Given the description of an element on the screen output the (x, y) to click on. 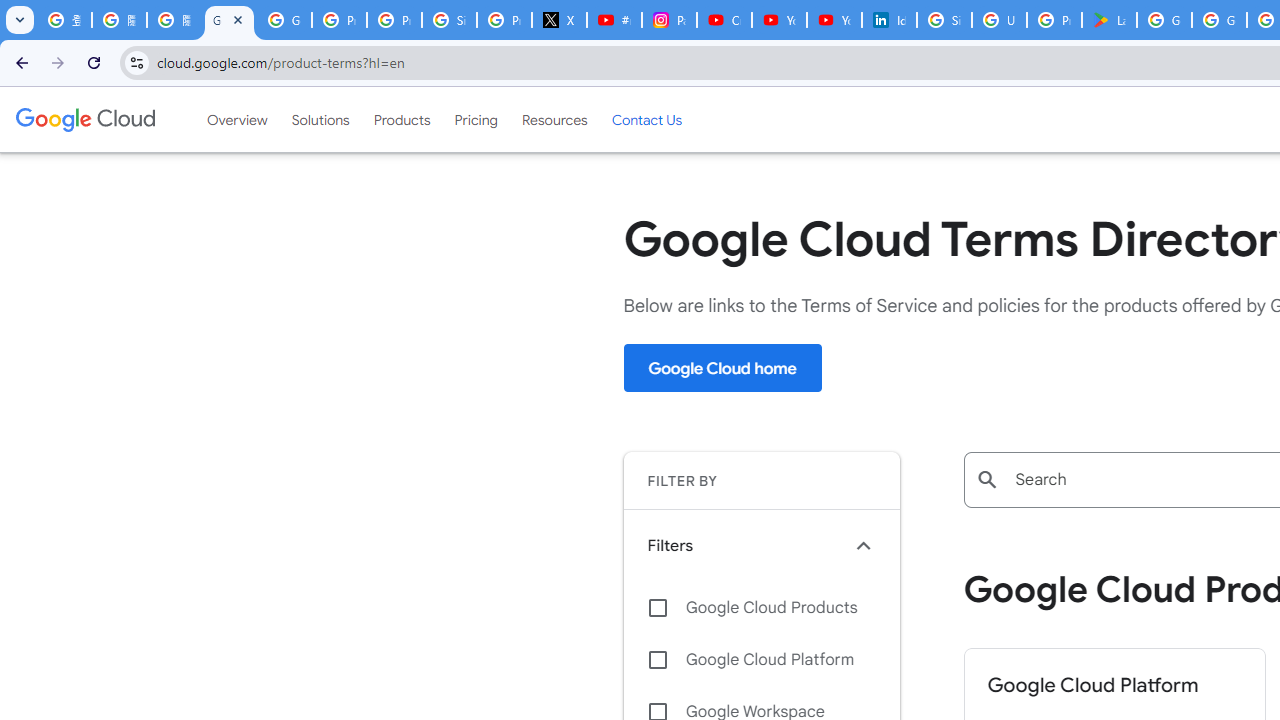
Solutions (320, 119)
Products (401, 119)
Filters keyboard_arrow_up (761, 545)
Pricing (476, 119)
Sign in - Google Accounts (449, 20)
Privacy Help Center - Policies Help (394, 20)
